Given the description of an element on the screen output the (x, y) to click on. 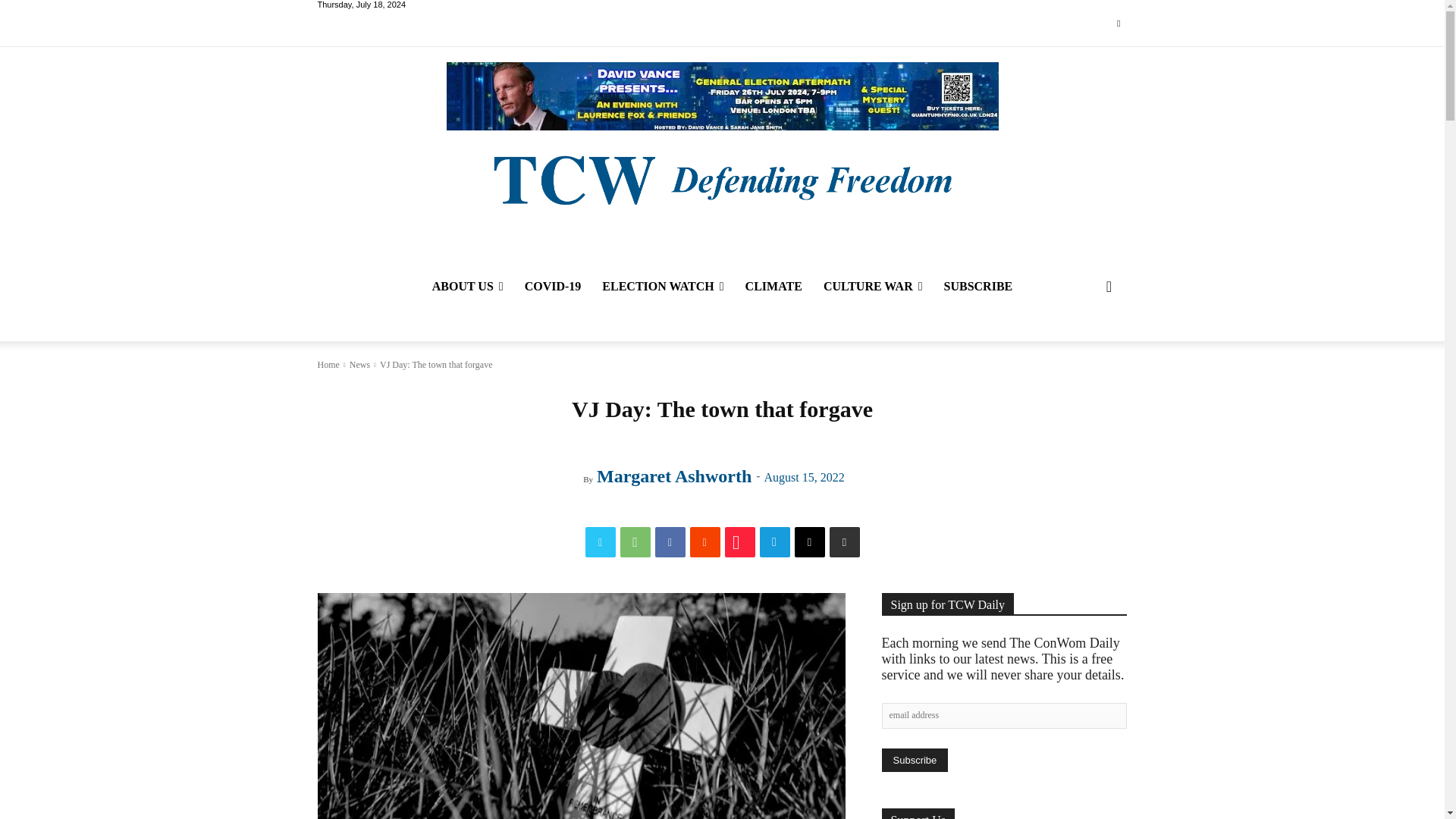
WhatsApp (635, 542)
Subscribe (913, 760)
The Conservative Woman (721, 178)
Facebook (670, 542)
ABOUT US (467, 286)
Twitter (600, 542)
COVID-19 (552, 286)
CLIMATE (773, 286)
Telegram (775, 542)
ReddIt (705, 542)
Twitter (1117, 23)
View all posts in News (359, 364)
ELECTION WATCH (662, 286)
Gettr (740, 542)
